Given the description of an element on the screen output the (x, y) to click on. 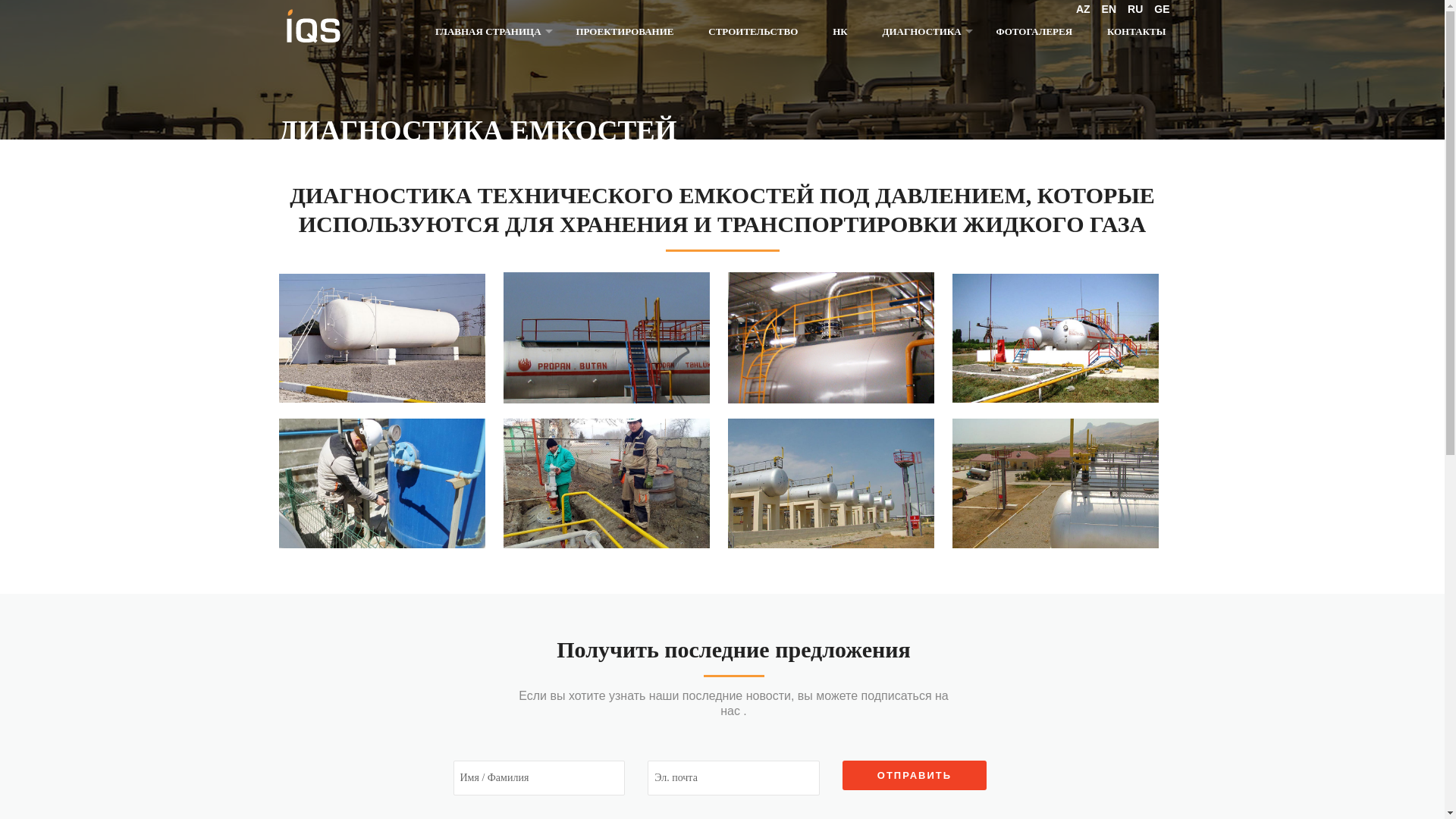
RU Element type: text (1134, 8)
AZ Element type: text (1083, 8)
GE Element type: text (1161, 8)
EN Element type: text (1108, 8)
